Given the description of an element on the screen output the (x, y) to click on. 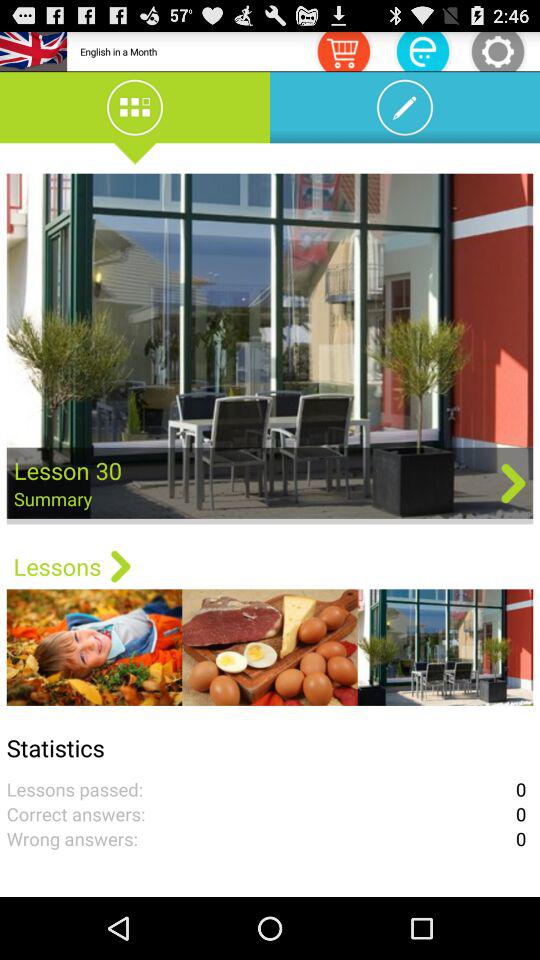
select icon next to the english in a icon (343, 50)
